Given the description of an element on the screen output the (x, y) to click on. 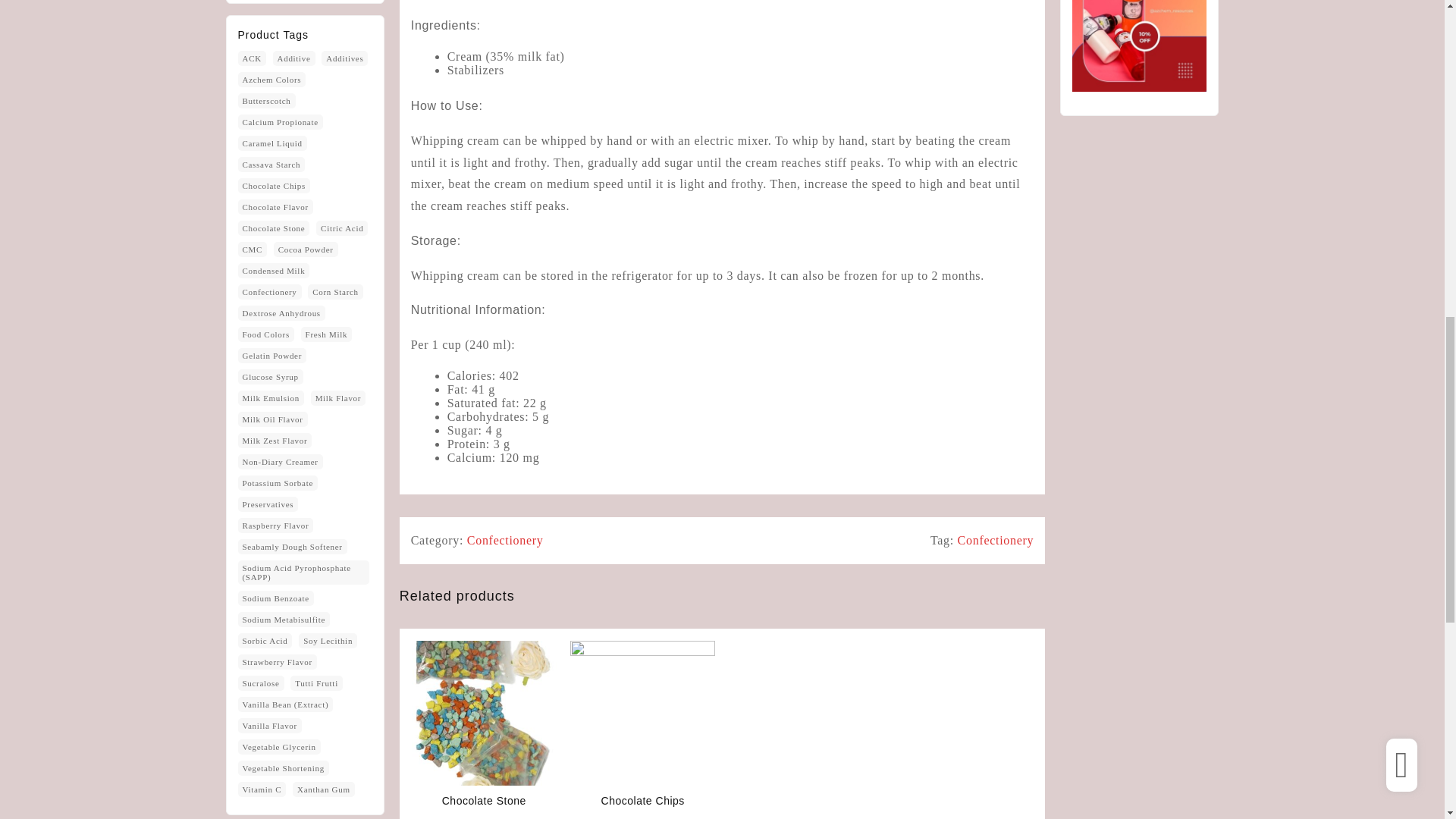
ACK (252, 58)
Additives (344, 58)
Additive (294, 58)
Calcium Propionate (280, 121)
Butterscotch (266, 100)
Azchem Colors (271, 79)
Caramel Liquid (272, 142)
